Given the description of an element on the screen output the (x, y) to click on. 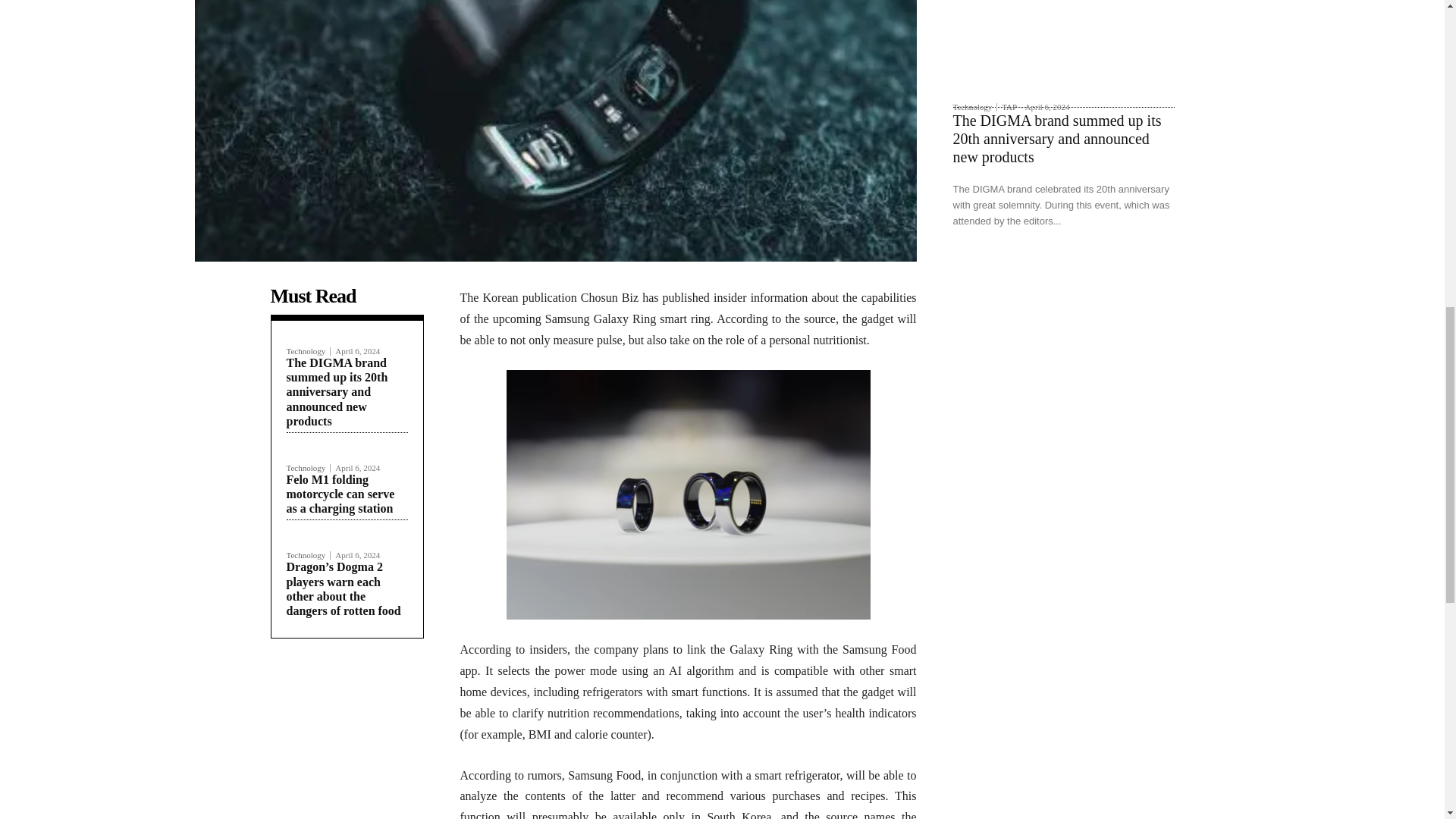
Technology (308, 351)
Technology (308, 555)
Technology (308, 468)
Felo M1 folding motorcycle can serve as a charging station (340, 494)
Felo M1 folding motorcycle can serve as a charging station (340, 494)
